Given the description of an element on the screen output the (x, y) to click on. 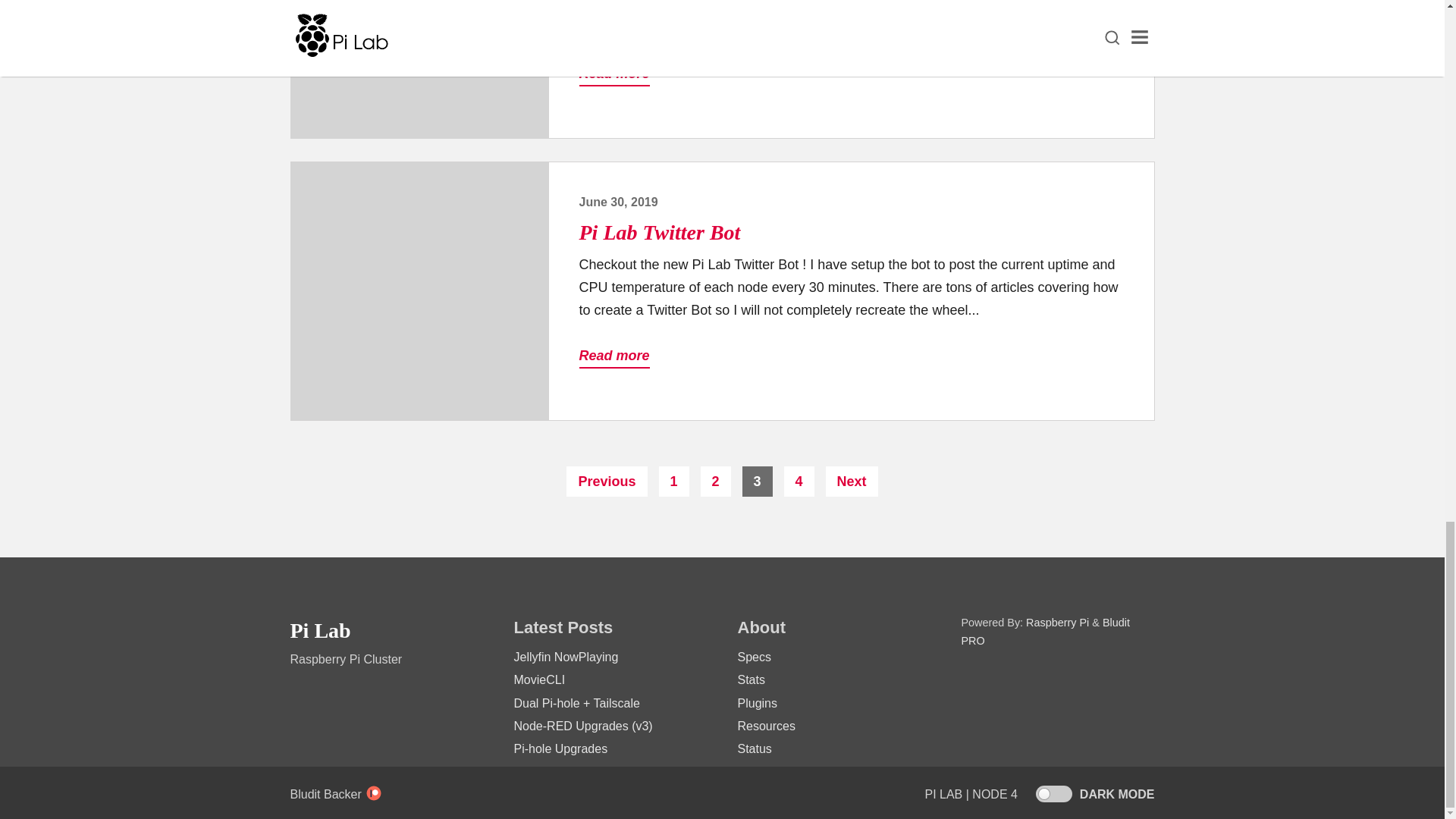
Continue reading Raspberry Pi Random Goat TV (419, 69)
2 (715, 481)
Pi Lab Twitter Bot (660, 232)
Read more (614, 355)
1 (673, 481)
Read more (614, 74)
Continue reading Pi Lab Twitter Bot (419, 291)
Previous (606, 481)
